Given the description of an element on the screen output the (x, y) to click on. 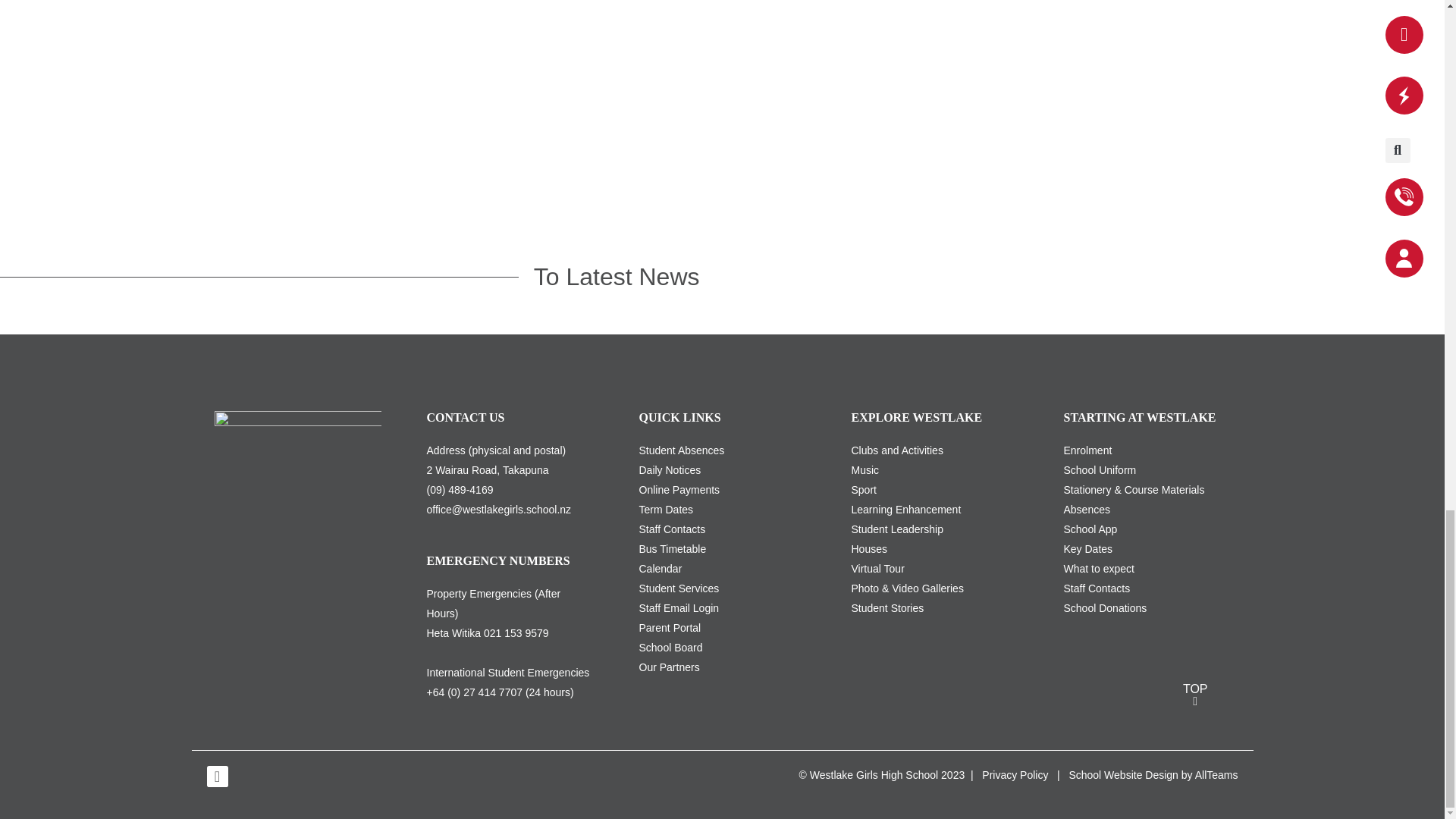
Music (864, 469)
Houses (868, 548)
Bus Timetable (672, 548)
Auckland NZ Website Design, School Website Designers (1122, 775)
Student Stories (886, 607)
Learning Enhancement (905, 509)
Calendar (660, 568)
Our Partners (668, 666)
Student Leadership (896, 529)
021 153 9579 (515, 633)
